Given the description of an element on the screen output the (x, y) to click on. 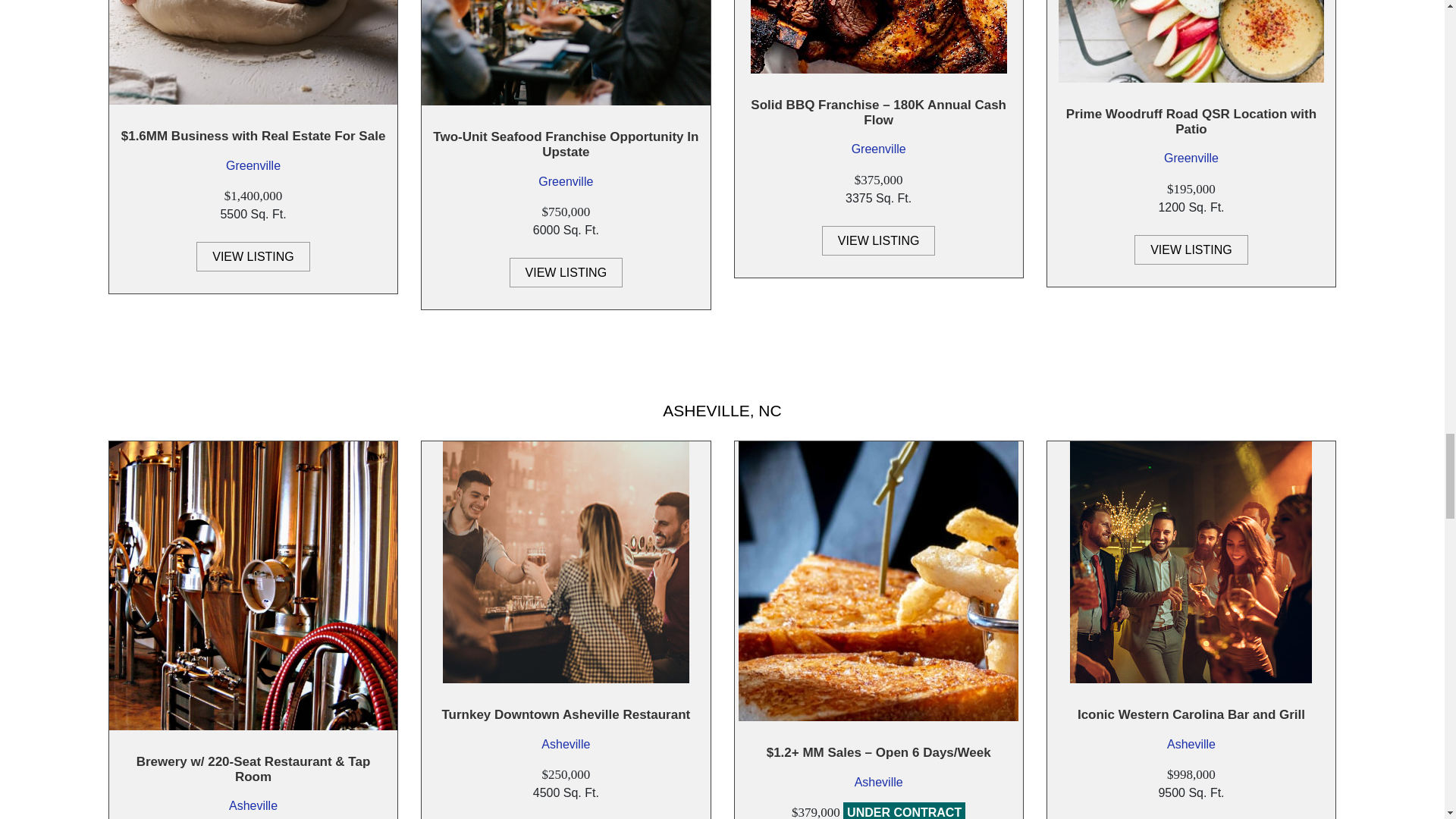
Unsplash.PizzaDough (253, 52)
